Given the description of an element on the screen output the (x, y) to click on. 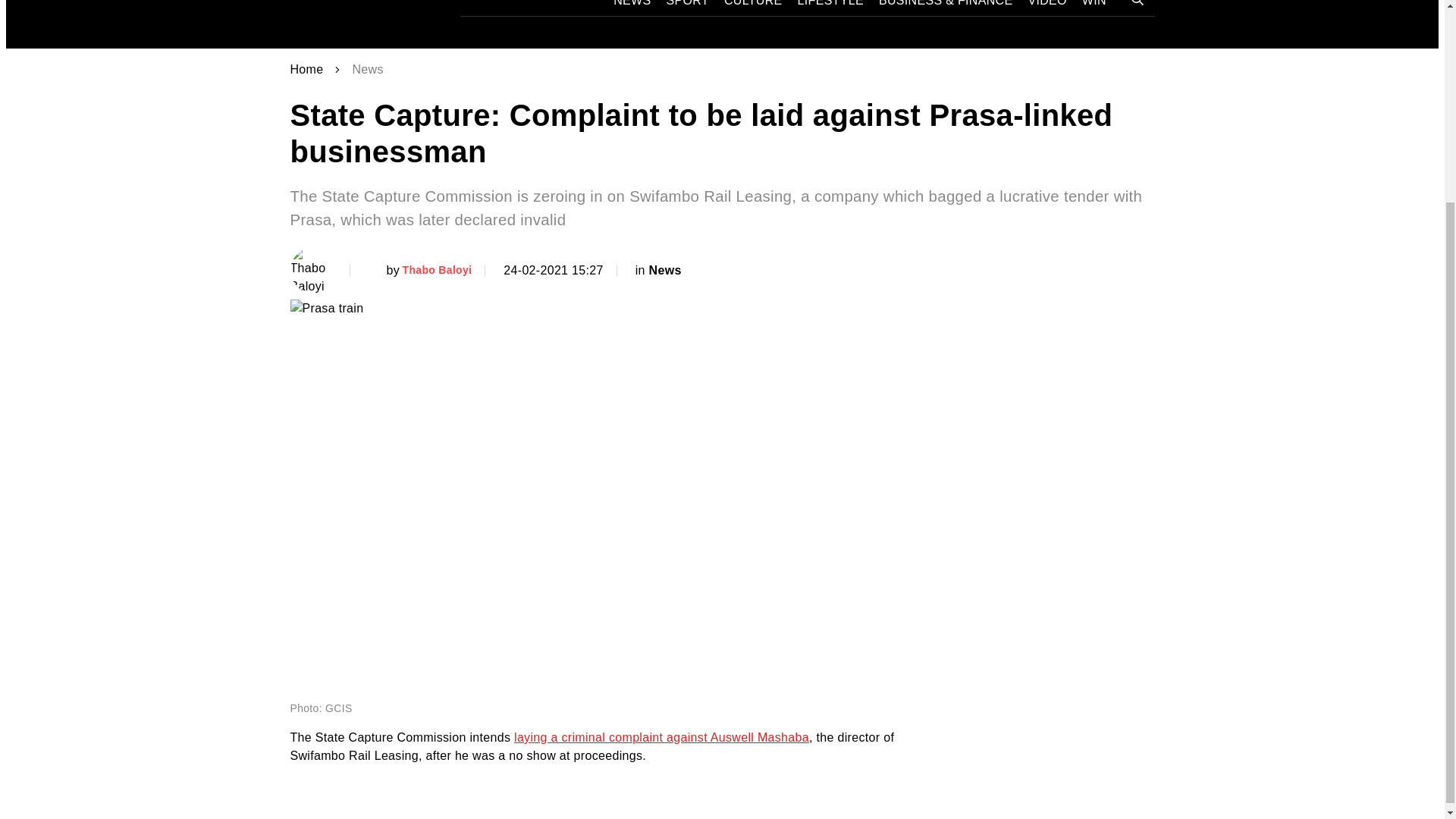
NEWS (631, 7)
